Given the description of an element on the screen output the (x, y) to click on. 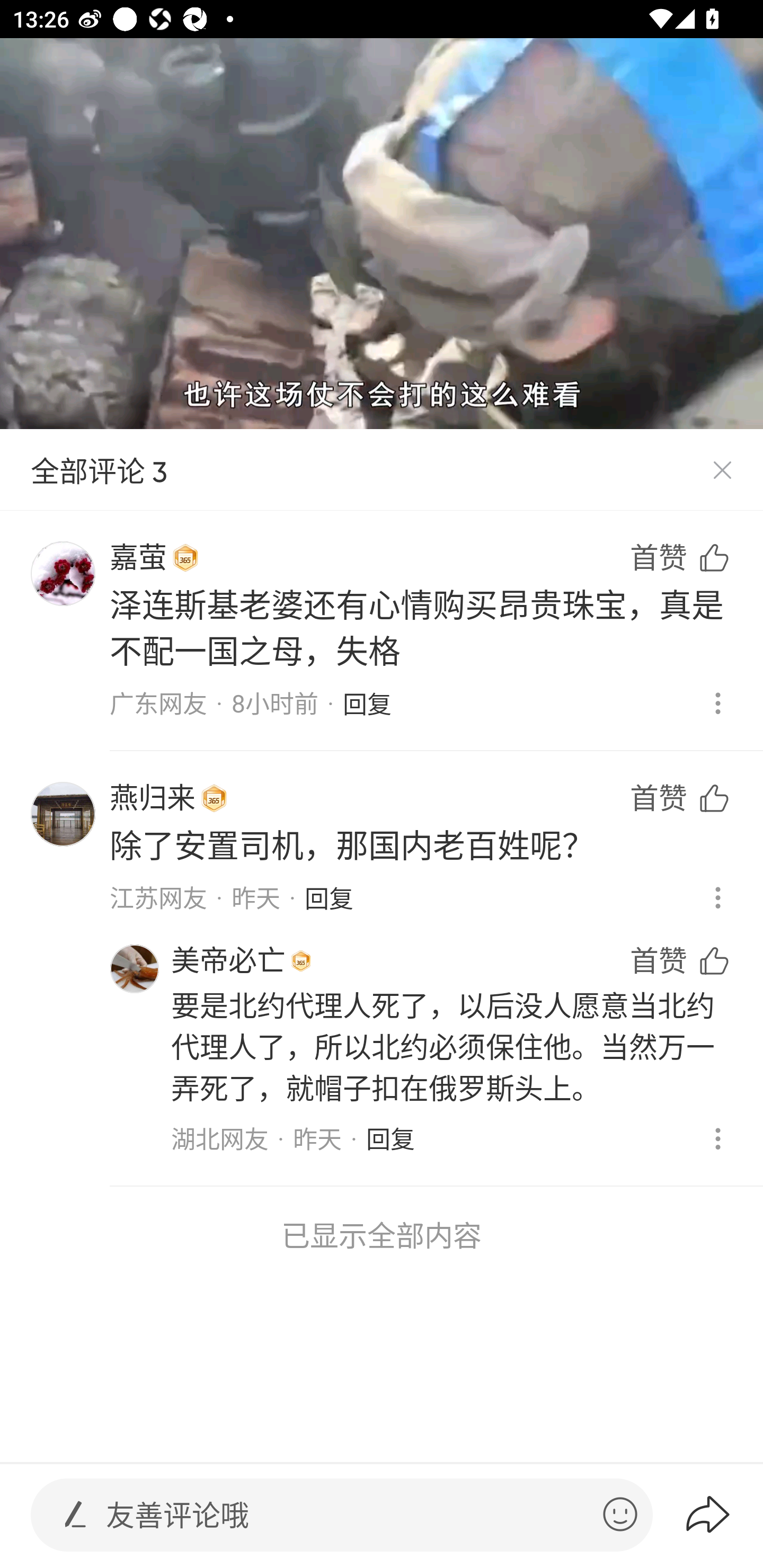
全部评论 3 关闭 (381, 470)
关闭 (722, 470)
UserRightLabel_OneMedalView 勋章 (184, 558)
UserRightLabel_OneMedalView 勋章 (213, 798)
赞 41 (696, 906)
UserRightLabel_OneMedalView 勋章 (300, 961)
收藏 (696, 1184)
已显示全部内容 (381, 1235)
友善评论哦 发表评论 (346, 1515)
 分享 (723, 1514)
 (75, 1514)
 (619, 1514)
